Given the description of an element on the screen output the (x, y) to click on. 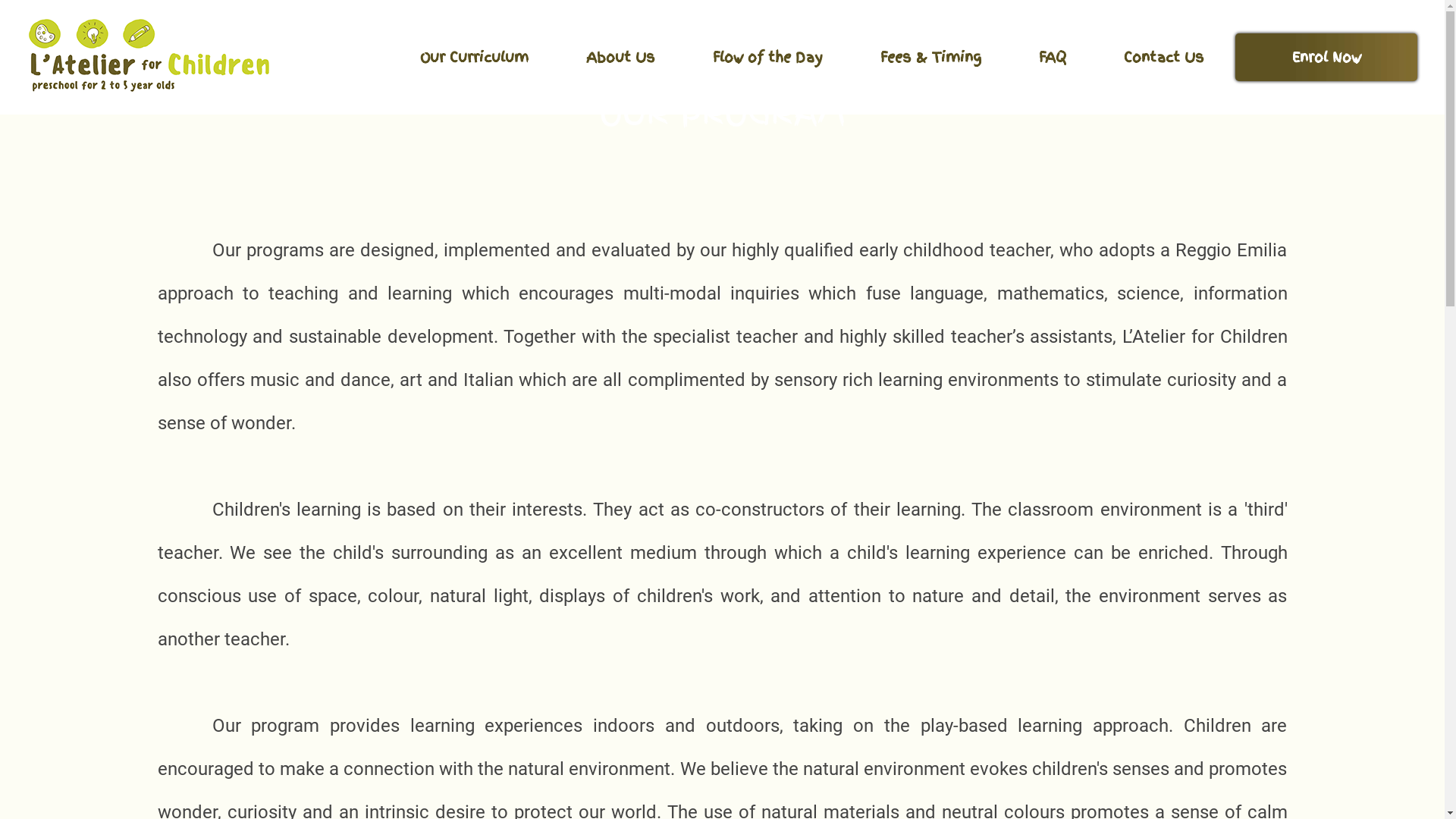
About Us Element type: text (620, 57)
FAQ Element type: text (1052, 57)
Enrol Now Element type: text (1326, 57)
Flow of the Day Element type: text (767, 57)
Contact Us Element type: text (1163, 57)
Our Curriculum Element type: text (474, 57)
Fees & Timing Element type: text (930, 57)
